Given the description of an element on the screen output the (x, y) to click on. 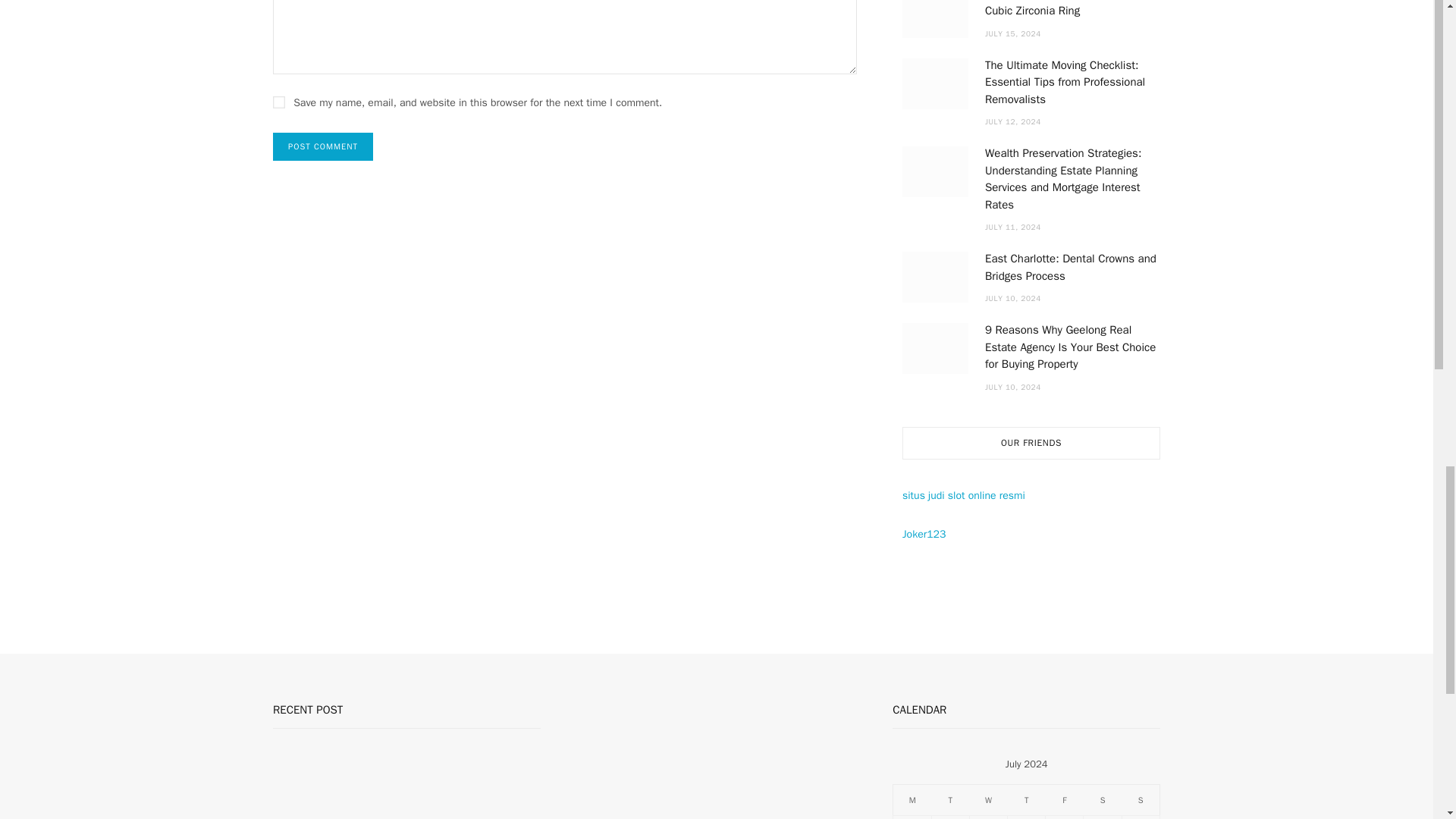
yes (279, 102)
Post Comment (322, 146)
Tuesday (950, 799)
Wednesday (988, 799)
Post Comment (322, 146)
Monday (912, 799)
